Given the description of an element on the screen output the (x, y) to click on. 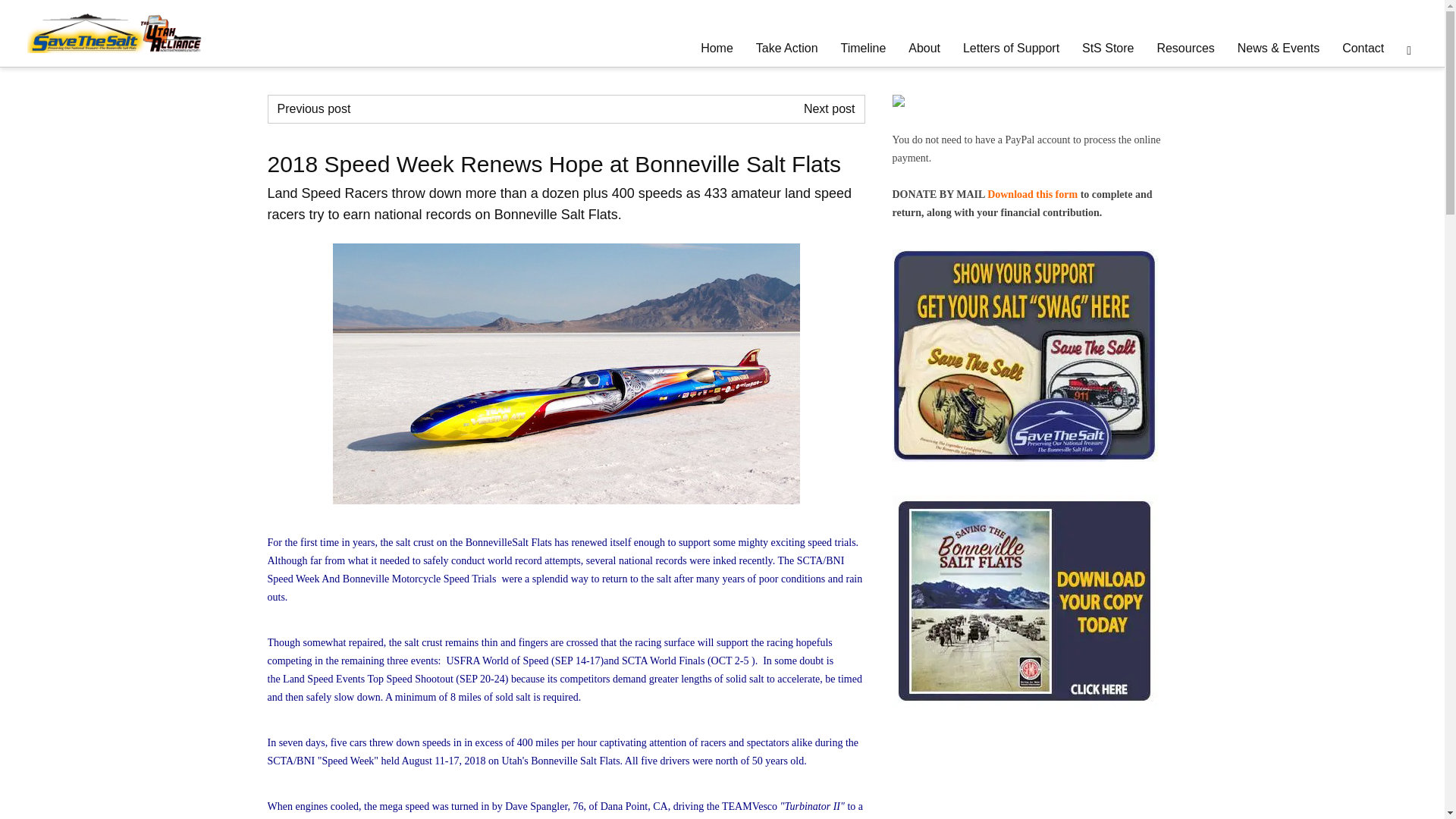
Previous post (314, 108)
Next post (829, 108)
Letters of Support (1010, 48)
Download this form (1032, 194)
